Given the description of an element on the screen output the (x, y) to click on. 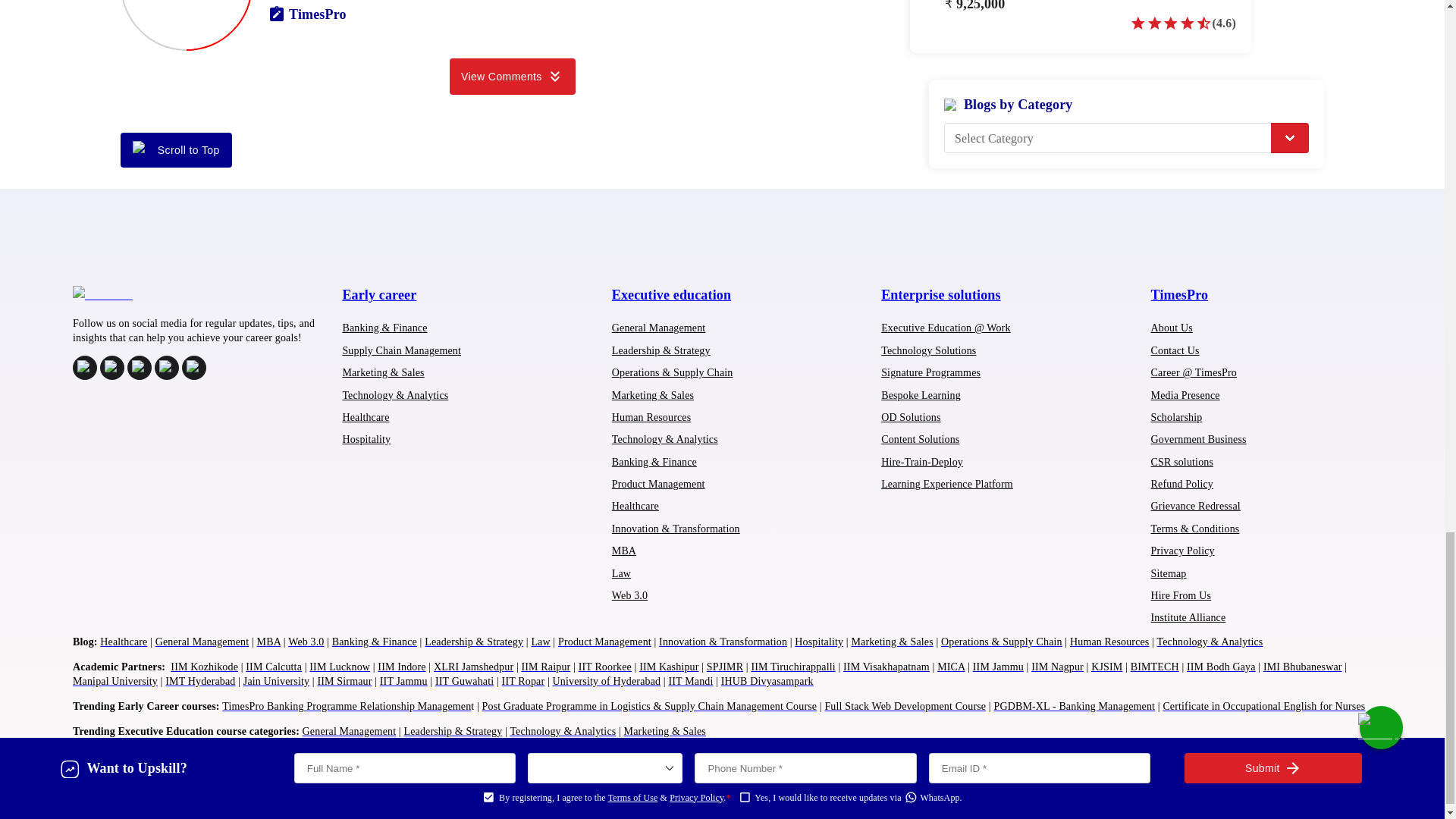
View Comments (512, 76)
Scroll to Top (175, 149)
Executive education (670, 294)
Healthcare (635, 505)
Early career (379, 294)
Product Management (657, 483)
Human Resources (651, 417)
Healthcare (365, 417)
Hospitality (366, 439)
Supply Chain Management (401, 350)
